Given the description of an element on the screen output the (x, y) to click on. 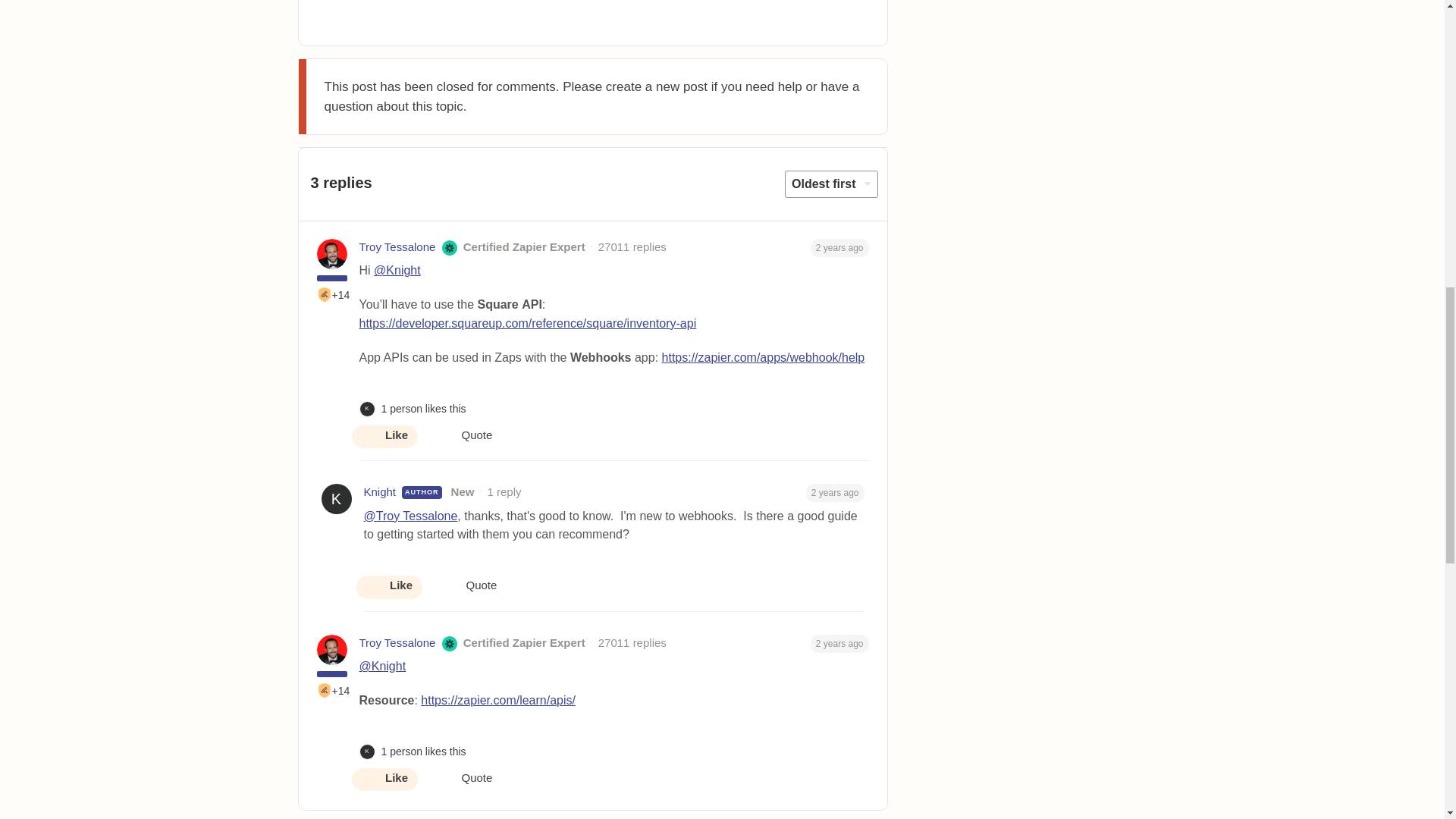
Troy Tessalone (397, 642)
Troy Tessalone (397, 247)
Knight (380, 492)
First Best Answer (324, 690)
First Best Answer (324, 294)
